Given the description of an element on the screen output the (x, y) to click on. 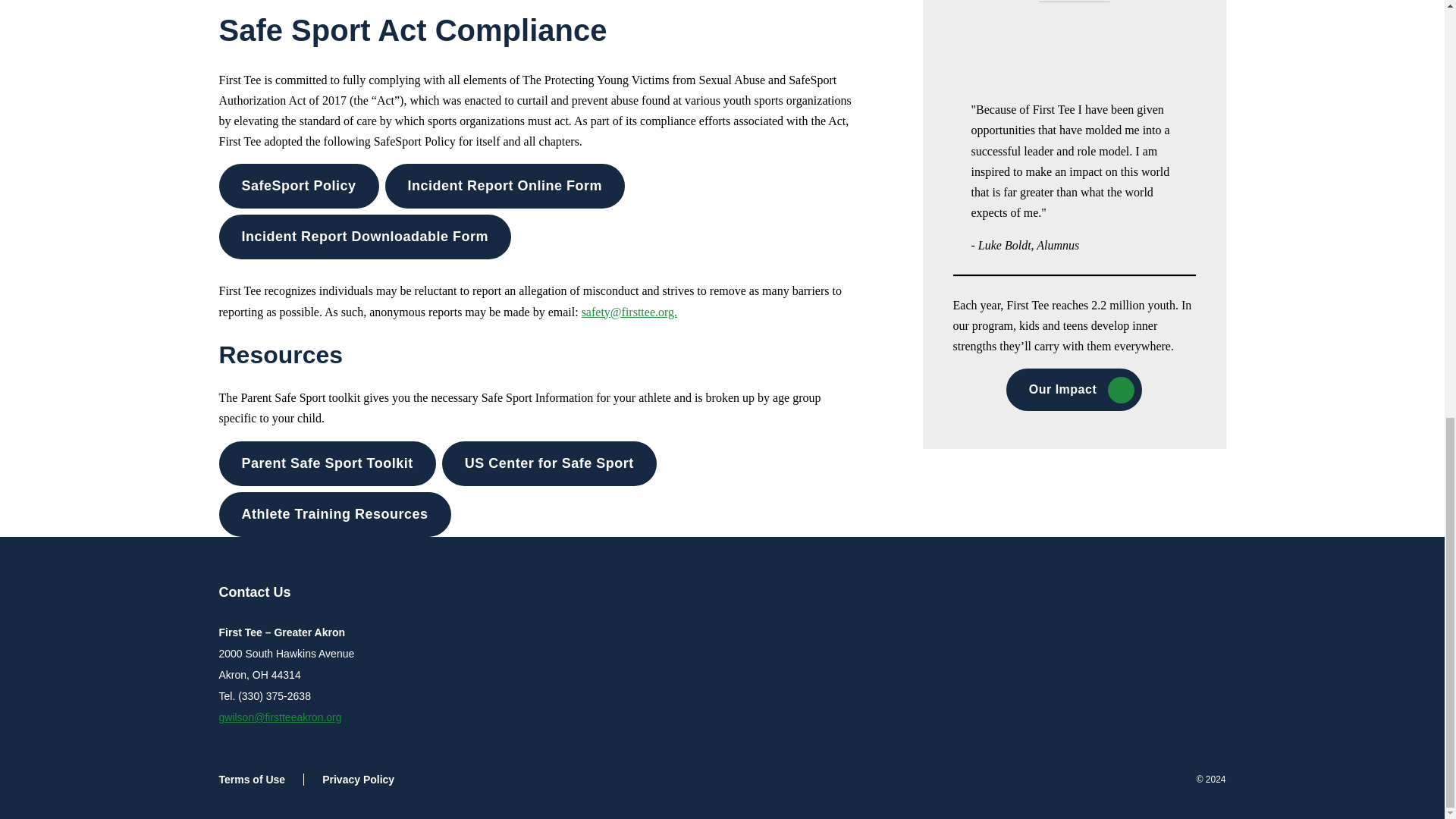
Terms of Use (261, 779)
Parent Safe Sport Toolkit (326, 463)
Our Impact (1073, 389)
Incident Report Online Form (505, 185)
Open facebook in a new window (1171, 593)
Open instagram in a new window (1111, 593)
Open youtube in a new window (1202, 593)
Athlete Training Resources (333, 514)
US Center for Safe Sport (549, 463)
Open twitter in a new window (1142, 593)
Incident Report Downloadable Form (364, 236)
SafeSport Policy (298, 185)
